Given the description of an element on the screen output the (x, y) to click on. 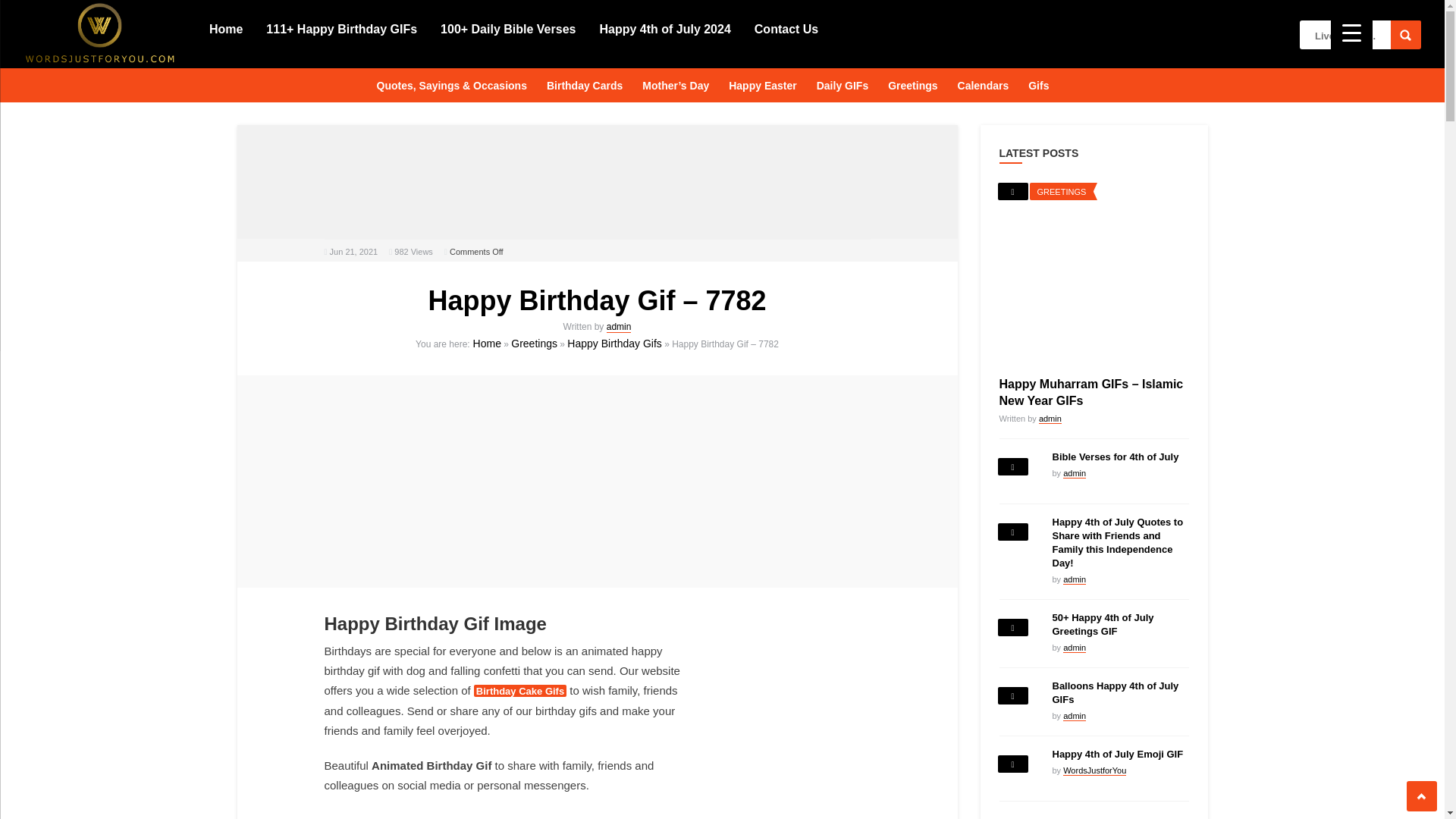
Search (1405, 34)
Happy 4th of July 2024 (664, 28)
Search (1405, 34)
Happy Easter (762, 83)
Contact Us (786, 28)
Home (225, 28)
Daily GIFs (842, 83)
Birthday Cards (584, 83)
Greetings (912, 83)
Posts by admin (619, 326)
